Given the description of an element on the screen output the (x, y) to click on. 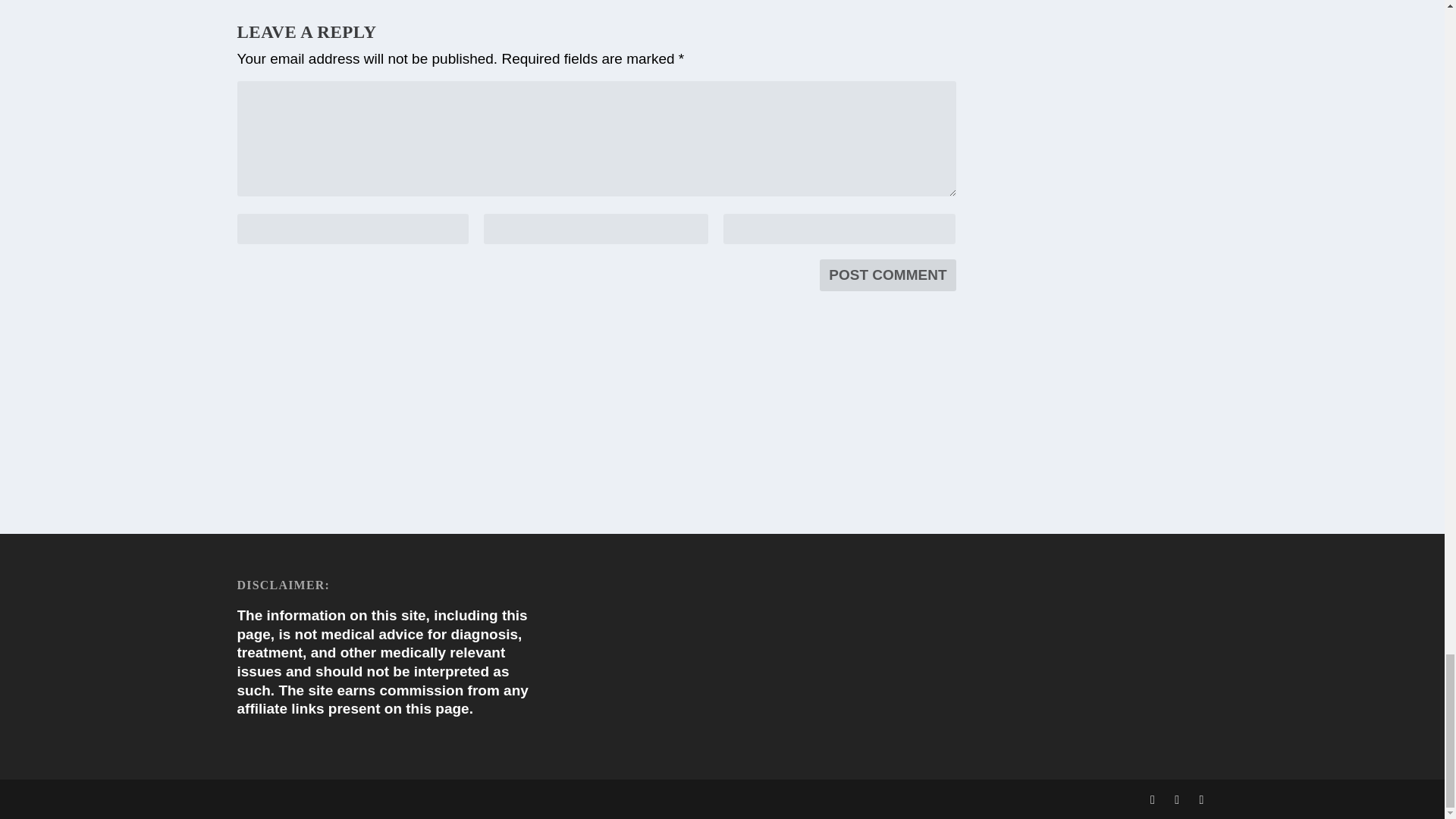
Post Comment (887, 275)
